Given the description of an element on the screen output the (x, y) to click on. 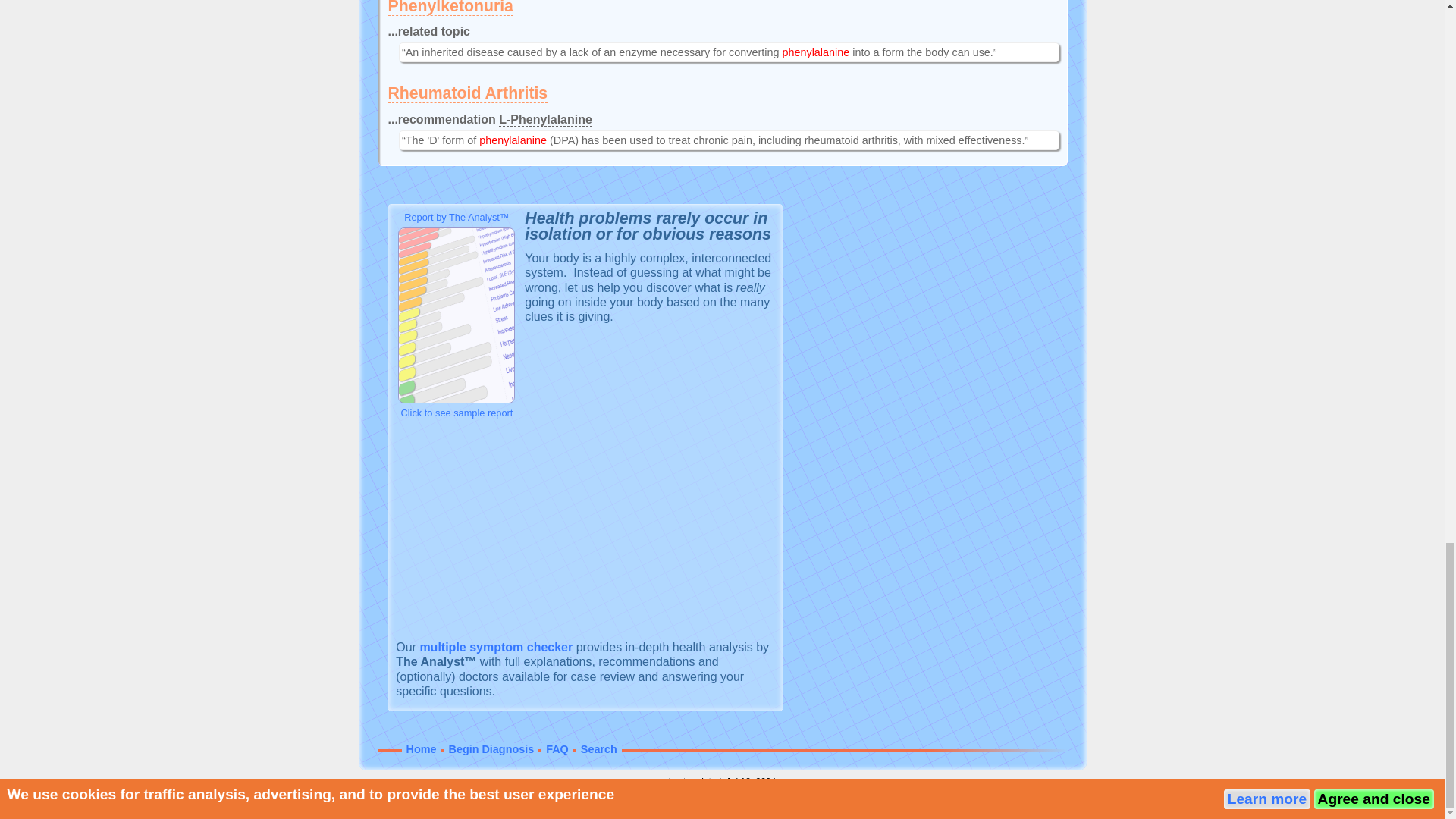
multiple symptom checker (495, 646)
L-Phenylalanine (545, 119)
Home (421, 748)
FAQ (557, 748)
Rheumatoid Arthritis (468, 93)
Phenylketonuria (450, 7)
Begin Diagnosis (491, 748)
Search (598, 748)
Begin Symptom Entry (495, 646)
